Given the description of an element on the screen output the (x, y) to click on. 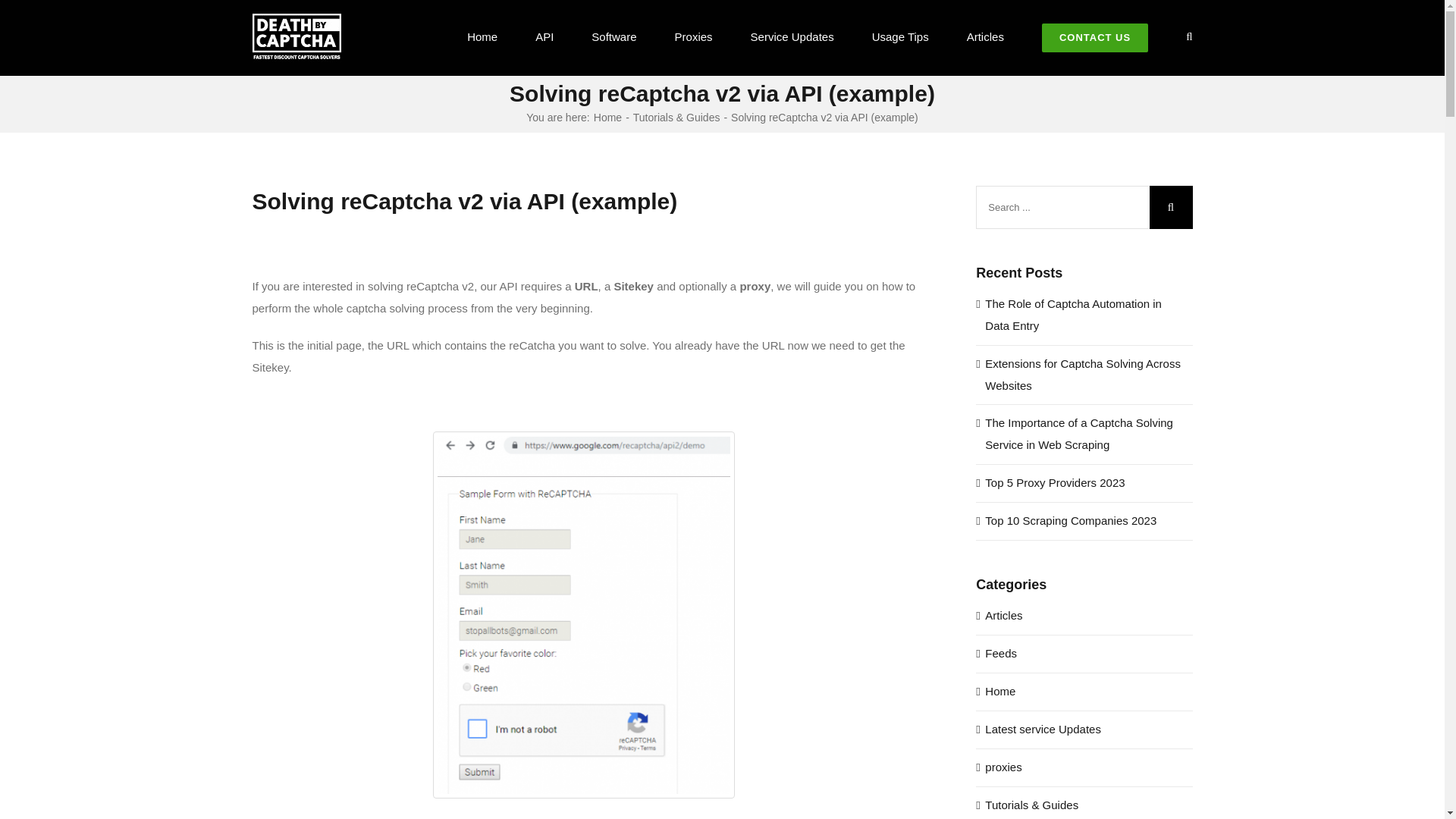
Service Updates (792, 36)
Home (607, 117)
Read our services updates (1085, 730)
CONTACT US (1095, 36)
Articles that we get from another pages (1085, 653)
